Given the description of an element on the screen output the (x, y) to click on. 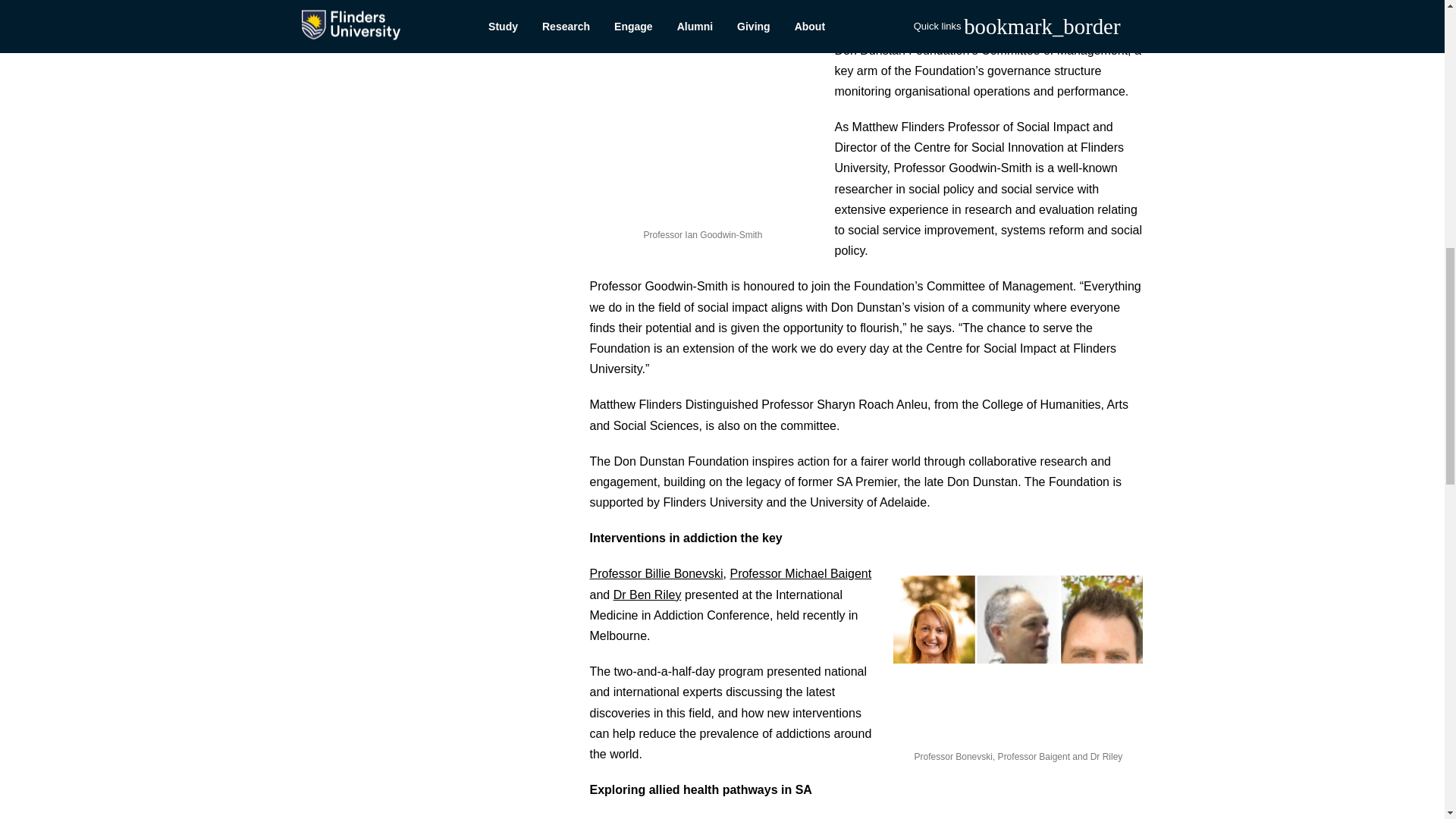
Professor Billie Bonevski (655, 573)
Professor Michael Baigent (799, 573)
Dr Ben Riley (646, 594)
